Given the description of an element on the screen output the (x, y) to click on. 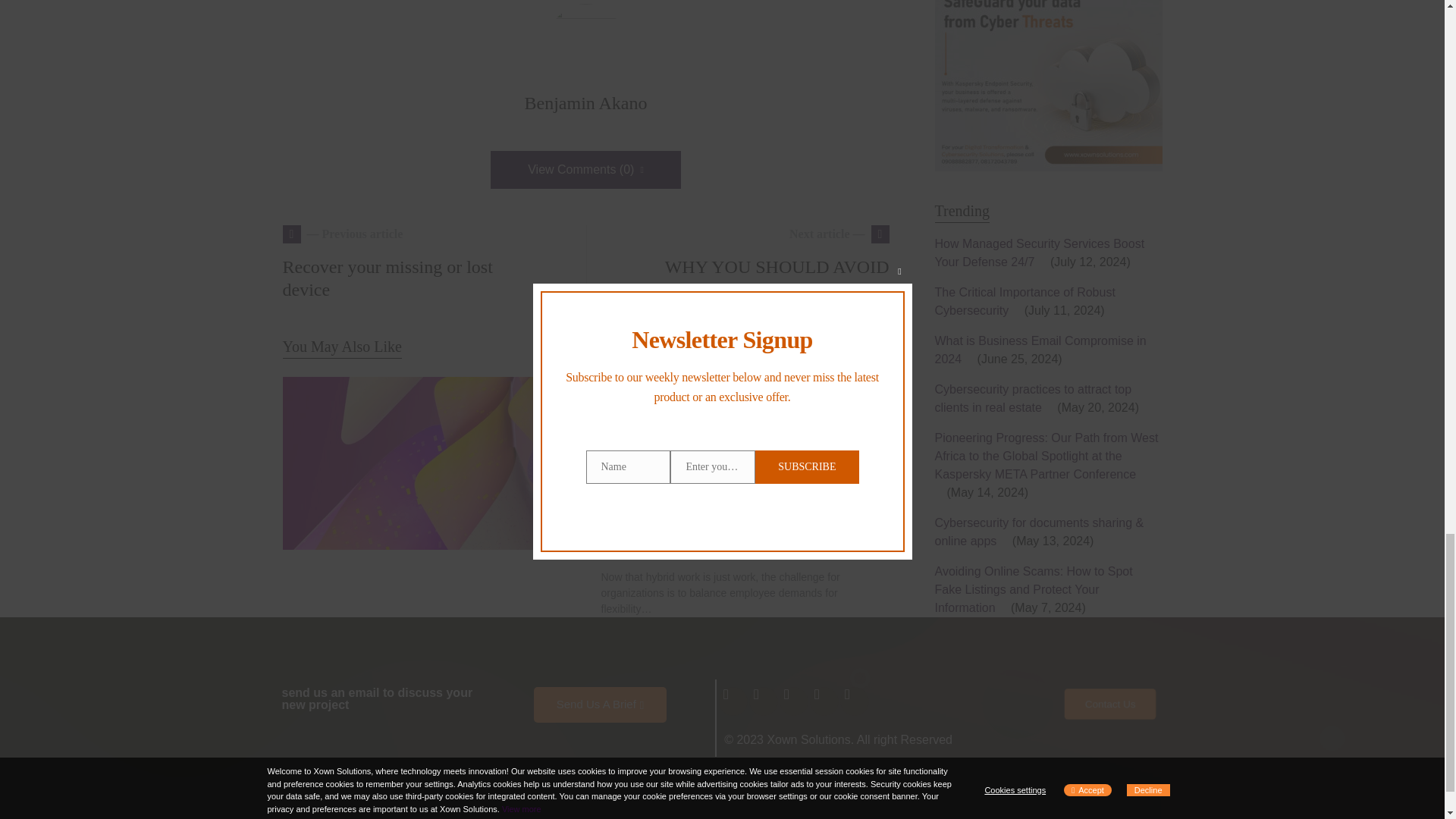
Inioluwa Akindehin (670, 547)
Benjamin Akano (585, 103)
View all posts by Inioluwa Akindehin (664, 385)
